Given the description of an element on the screen output the (x, y) to click on. 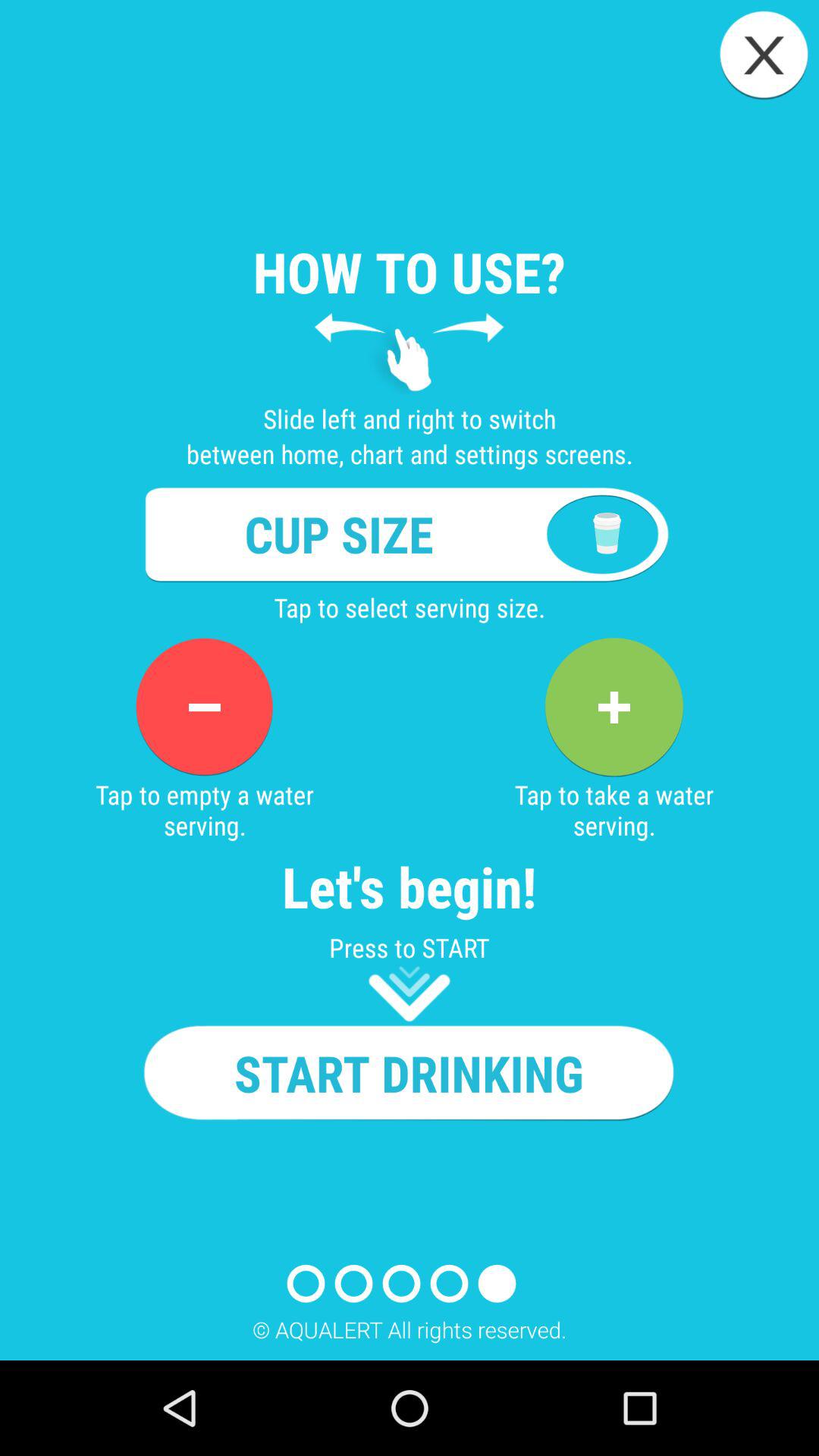
turn off the icon next to the tap to empty item (613, 706)
